Given the description of an element on the screen output the (x, y) to click on. 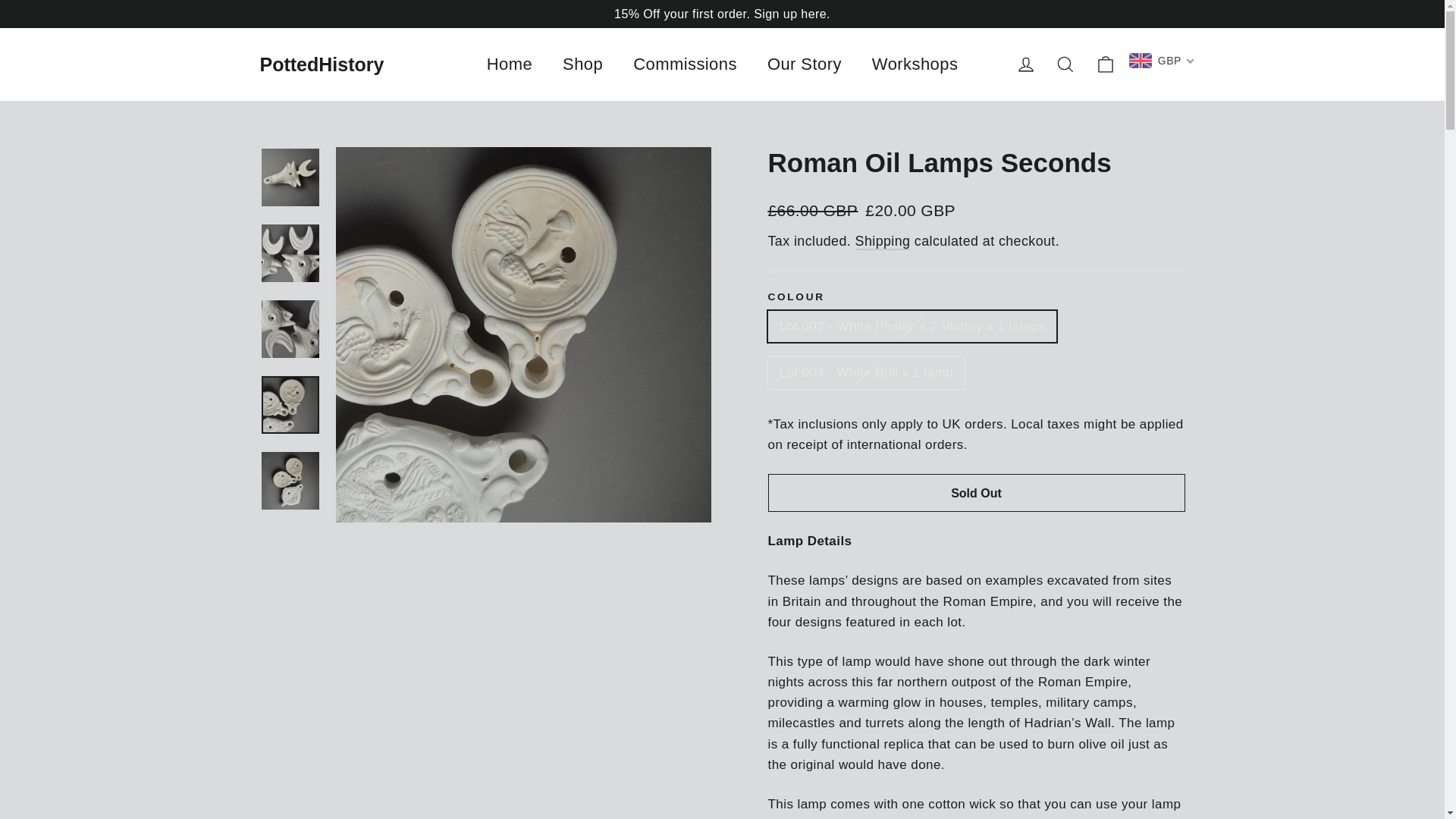
Home (509, 64)
Our Story (804, 64)
Commissions (1064, 63)
Lot 004 - White Bull x 1 lamp (684, 64)
PottedHistory (914, 64)
icon-search (1025, 63)
